Given the description of an element on the screen output the (x, y) to click on. 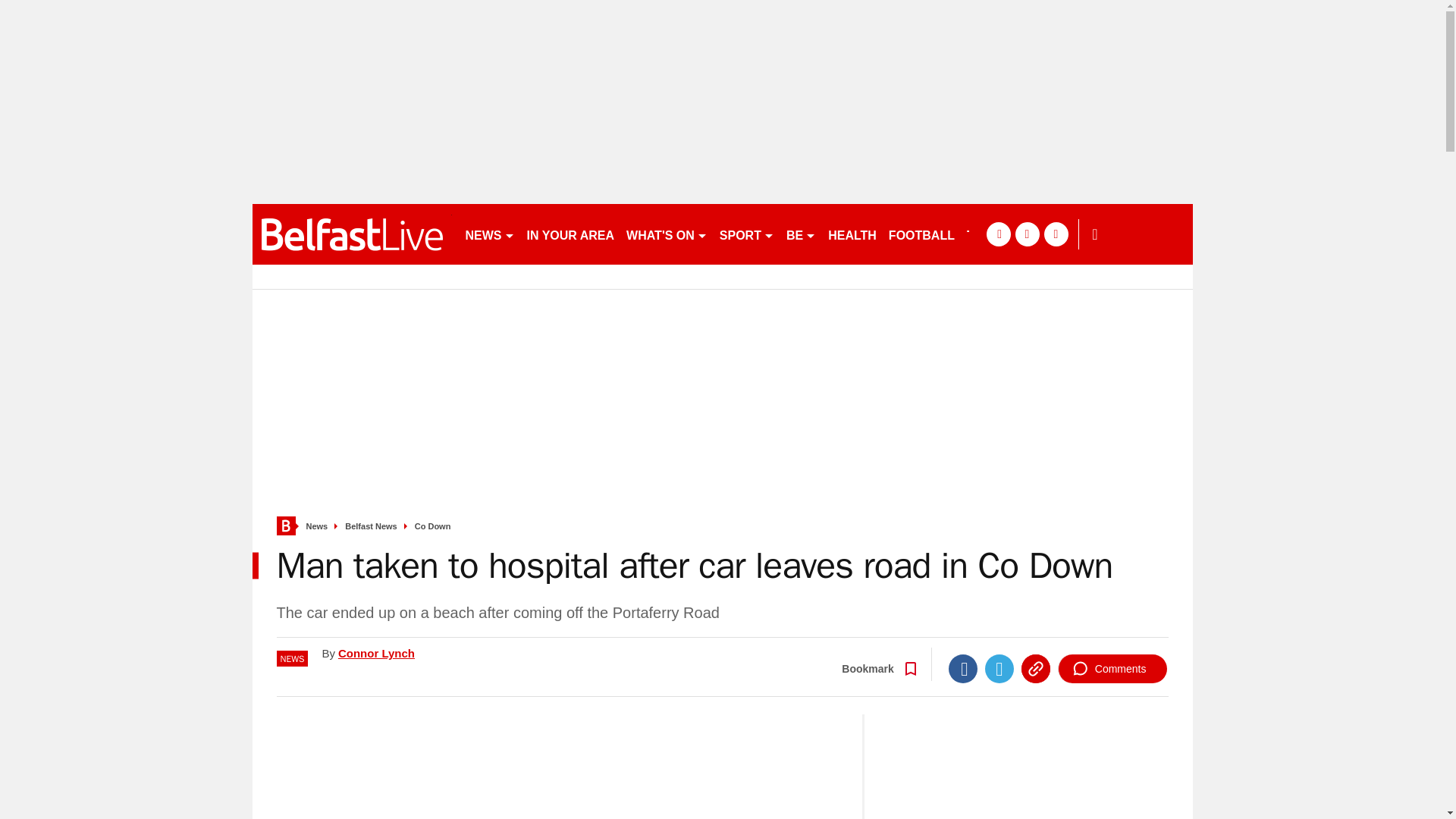
belfastlive (351, 233)
Twitter (999, 668)
facebook (997, 233)
Facebook (962, 668)
IN YOUR AREA (569, 233)
NEWS (490, 233)
Comments (1112, 668)
SPORT (746, 233)
twitter (1026, 233)
instagram (1055, 233)
